Given the description of an element on the screen output the (x, y) to click on. 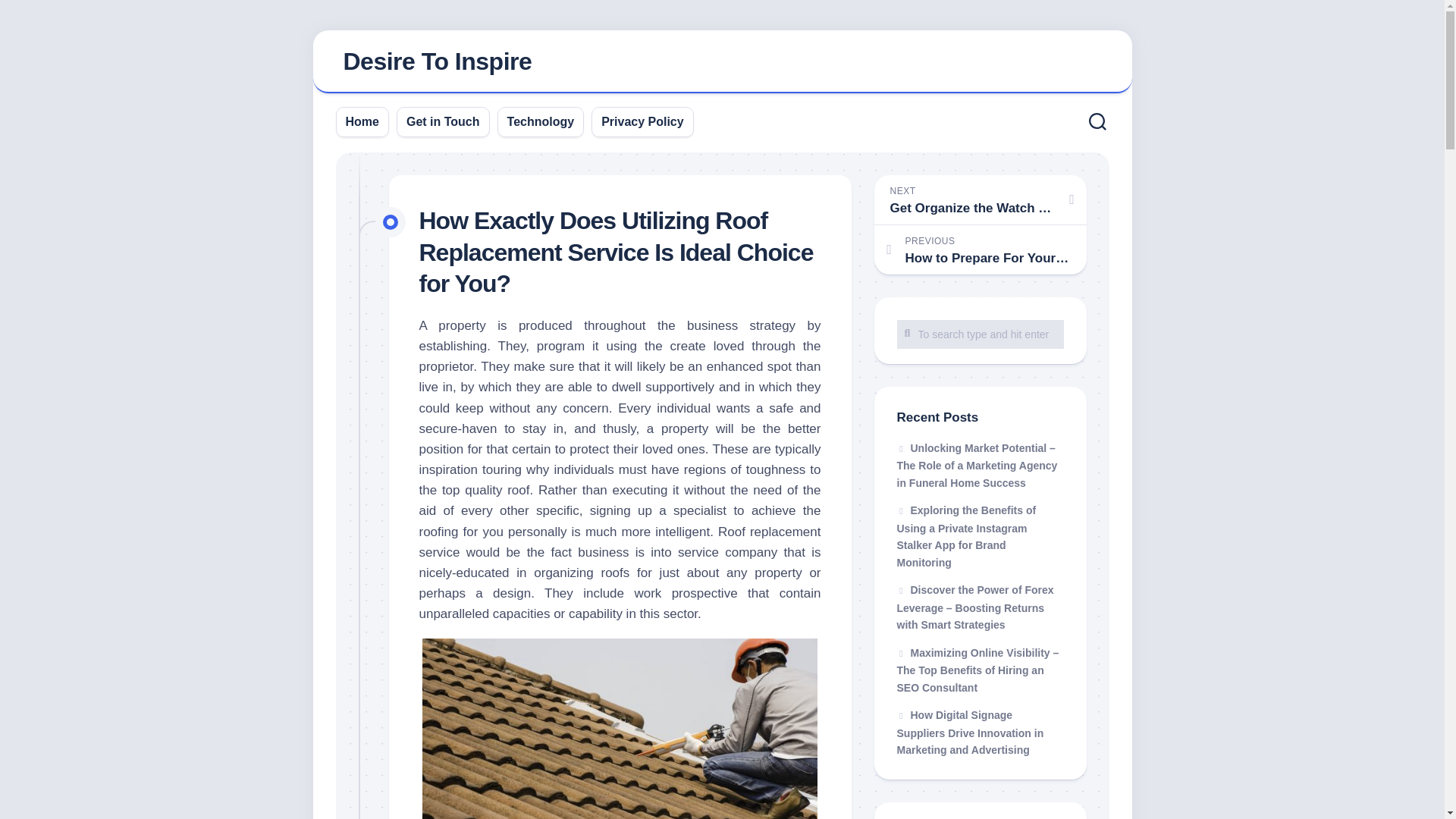
Home (979, 249)
Technology (362, 121)
Get in Touch (540, 121)
To search type and hit enter (443, 121)
Desire To Inspire (979, 334)
To search type and hit enter (722, 62)
Privacy Policy (979, 334)
